Given the description of an element on the screen output the (x, y) to click on. 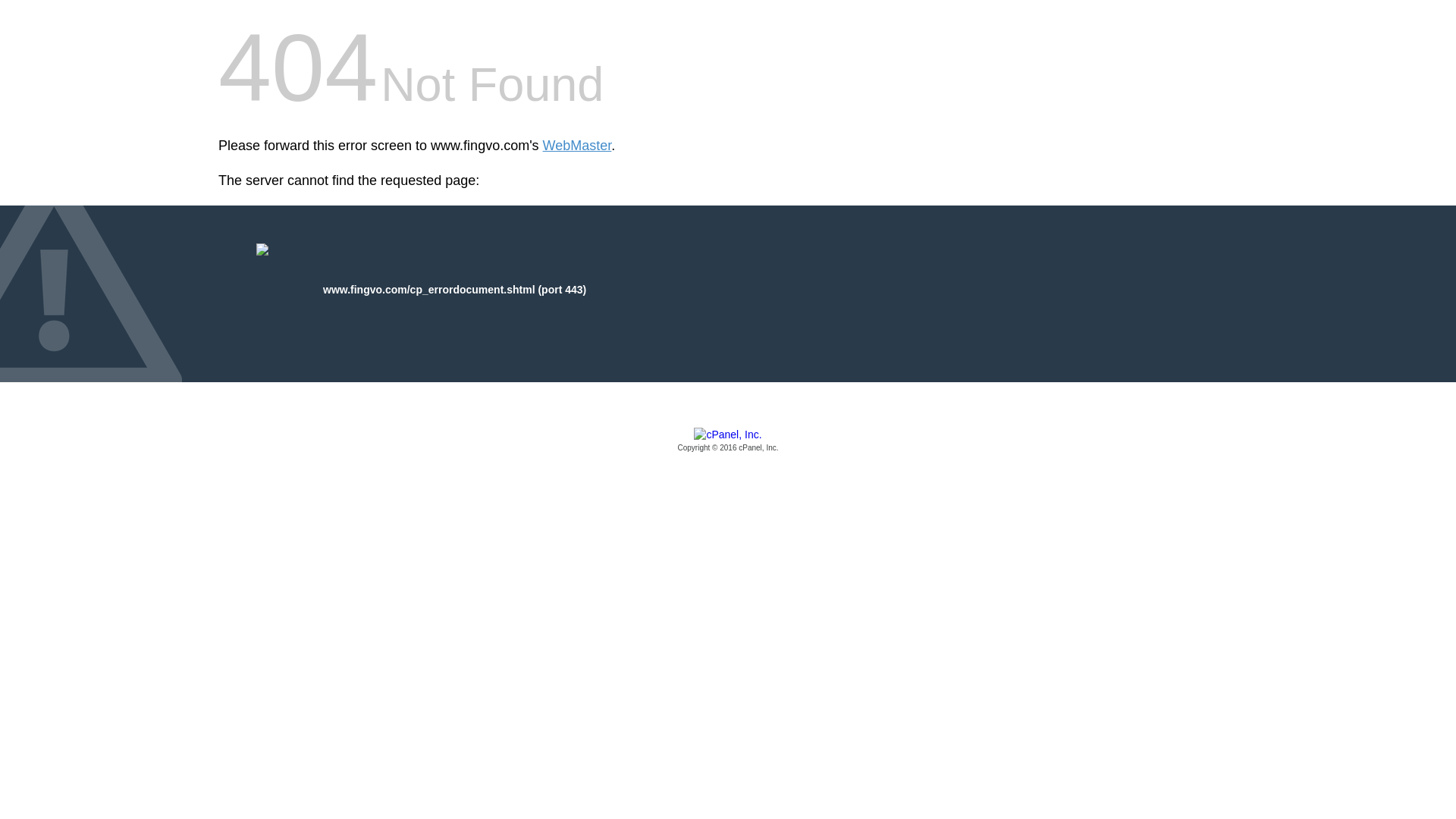
WebMaster (577, 145)
cPanel, Inc. (727, 440)
